Given the description of an element on the screen output the (x, y) to click on. 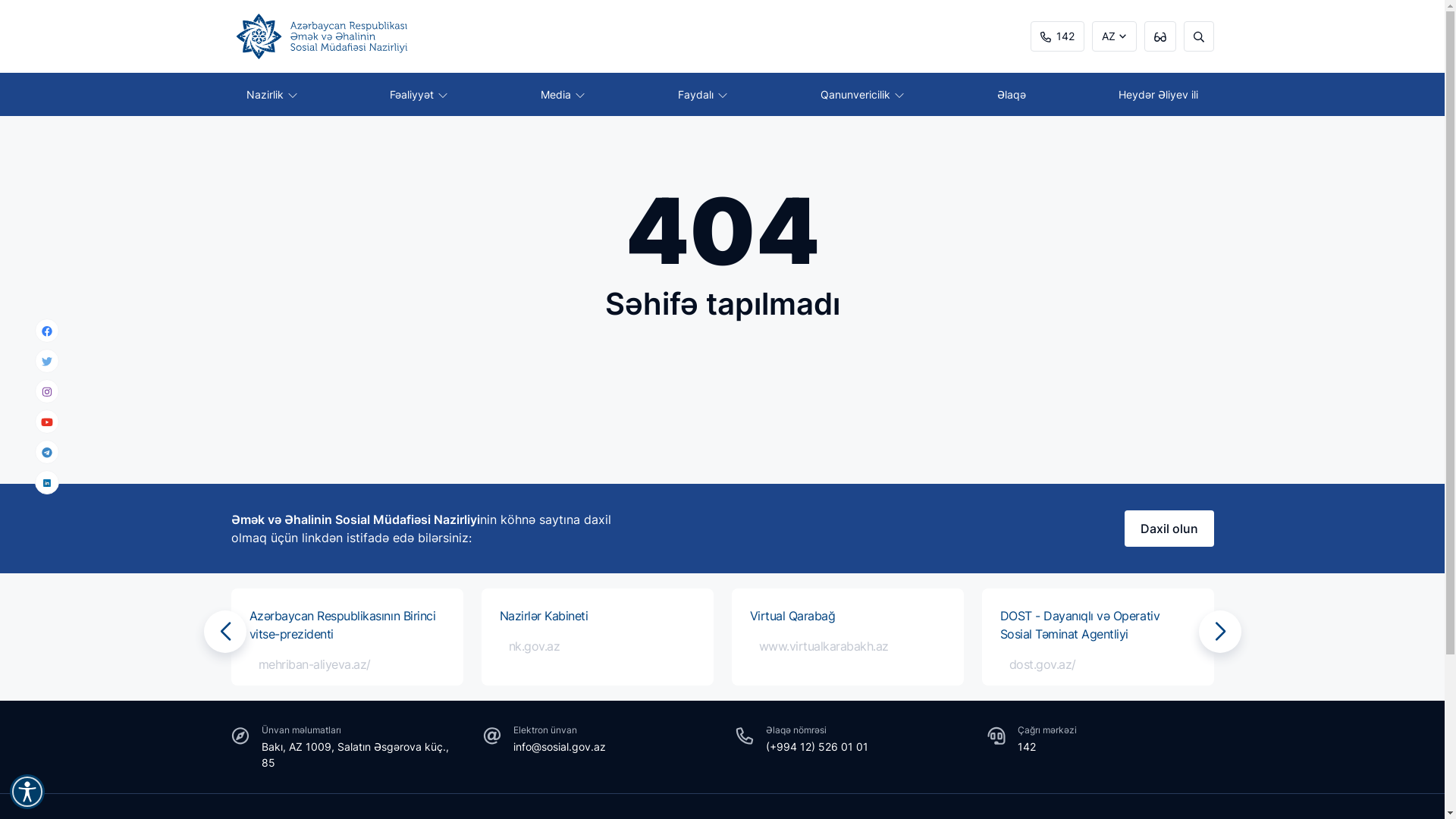
(+994 12) 526 01 01 Element type: text (816, 746)
info@sosial.gov.az Element type: text (559, 746)
Media Element type: text (562, 94)
142 Element type: text (1056, 36)
142 Element type: text (1026, 746)
Daxil olun Element type: text (1168, 528)
AZ Element type: text (1114, 36)
Qanunvericilik Element type: text (862, 94)
Nazirlik Element type: text (270, 94)
